Given the description of an element on the screen output the (x, y) to click on. 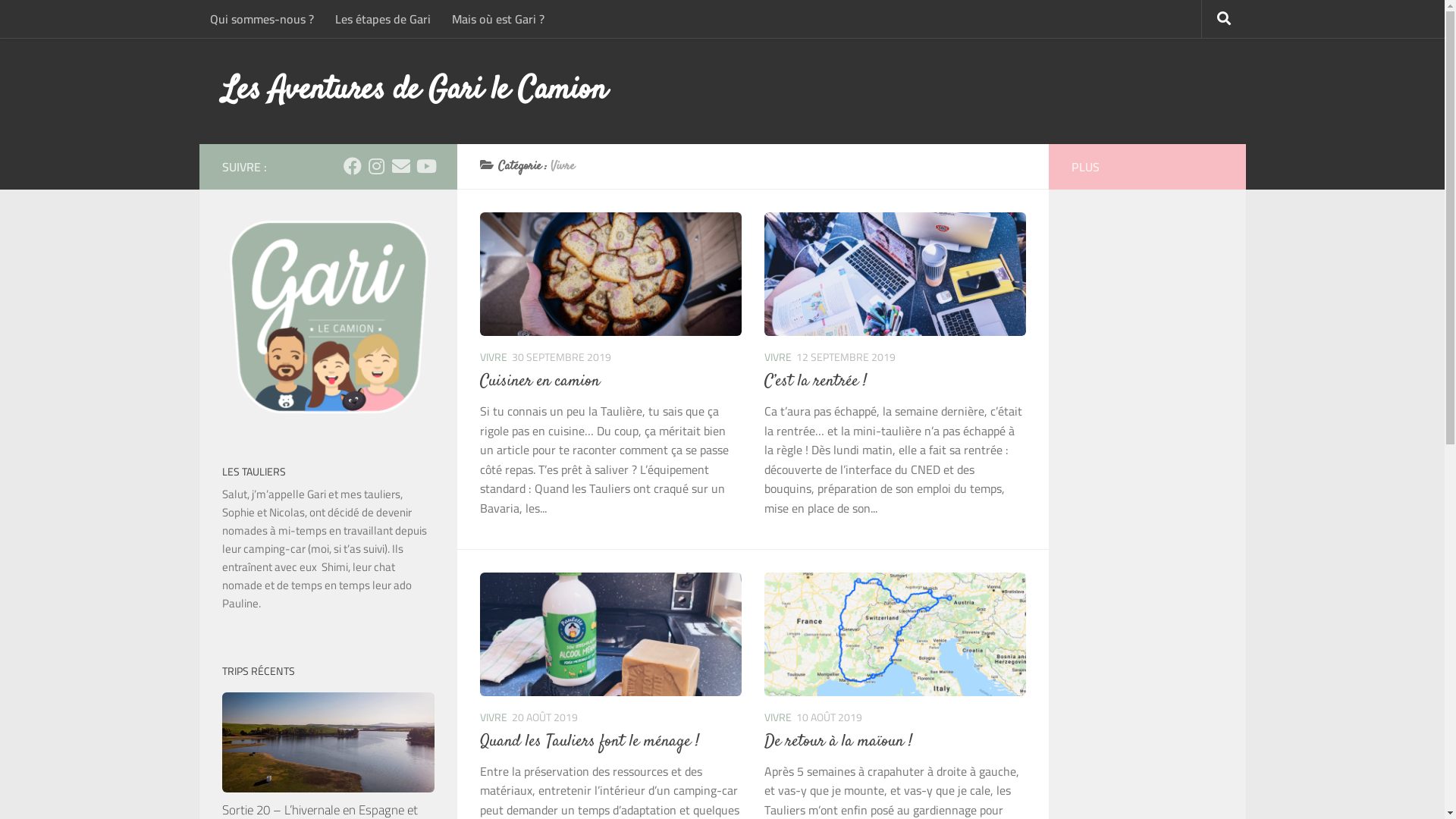
VIVRE Element type: text (777, 357)
Les Aventures de Gari le Camion Element type: text (413, 90)
Suivez-nous sur Email Element type: hover (400, 165)
Skip to content Element type: text (60, 25)
Suivez-nous sur Facebook Element type: hover (351, 165)
VIVRE Element type: text (492, 717)
Suivez-nous sur Youtube Element type: hover (424, 165)
VIVRE Element type: text (492, 357)
Qui sommes-nous ? Element type: text (260, 18)
Cuisiner en camion Element type: text (539, 381)
Suivez-nous sur Instagram Element type: hover (376, 165)
VIVRE Element type: text (777, 717)
